Given the description of an element on the screen output the (x, y) to click on. 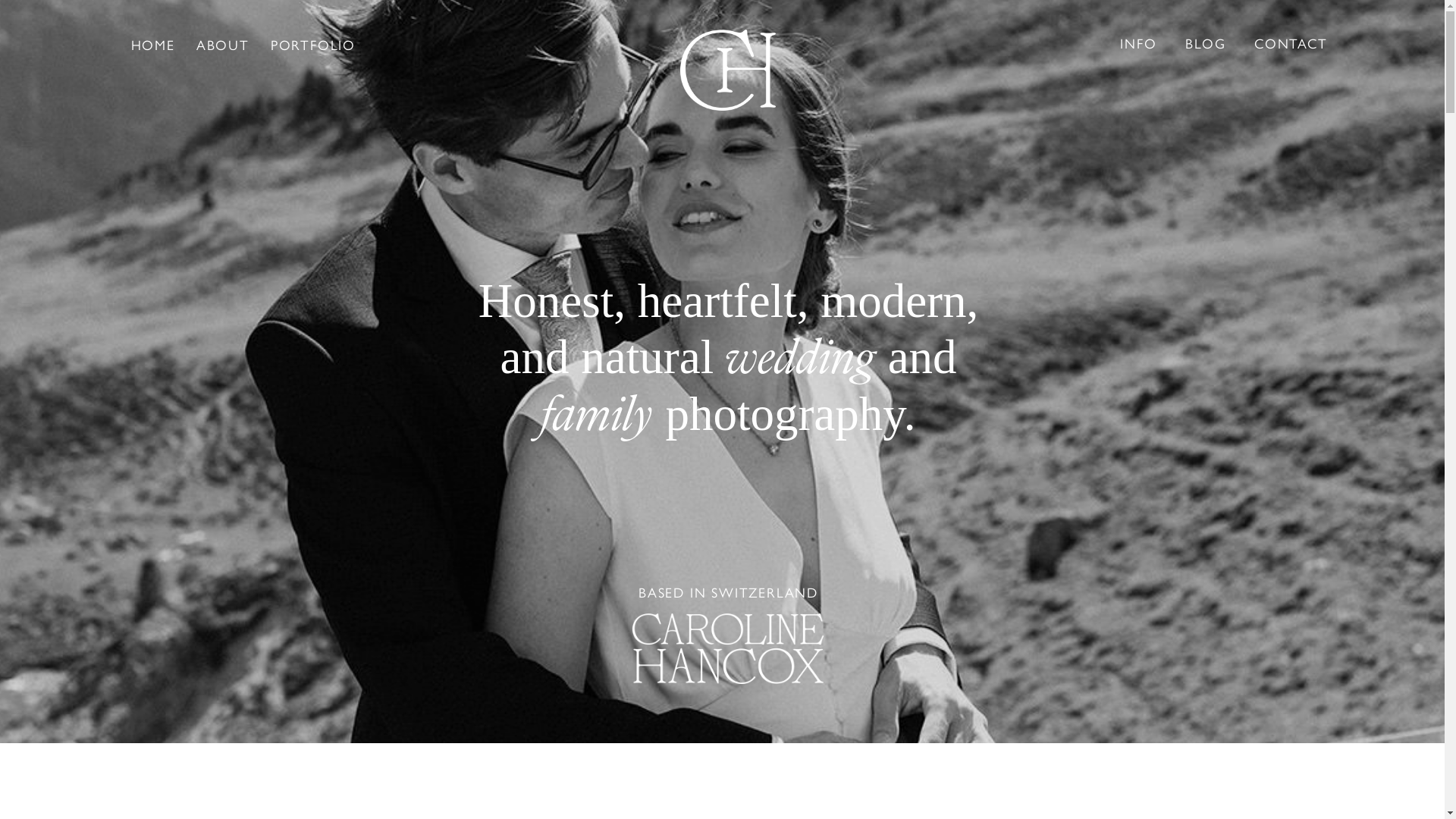
ABOUT Element type: text (222, 44)
CONTACT Element type: text (1290, 42)
PORTFOLIO Element type: text (312, 44)
BLOG Element type: text (1205, 42)
HOME Element type: text (153, 44)
INFO Element type: text (1138, 42)
